Given the description of an element on the screen output the (x, y) to click on. 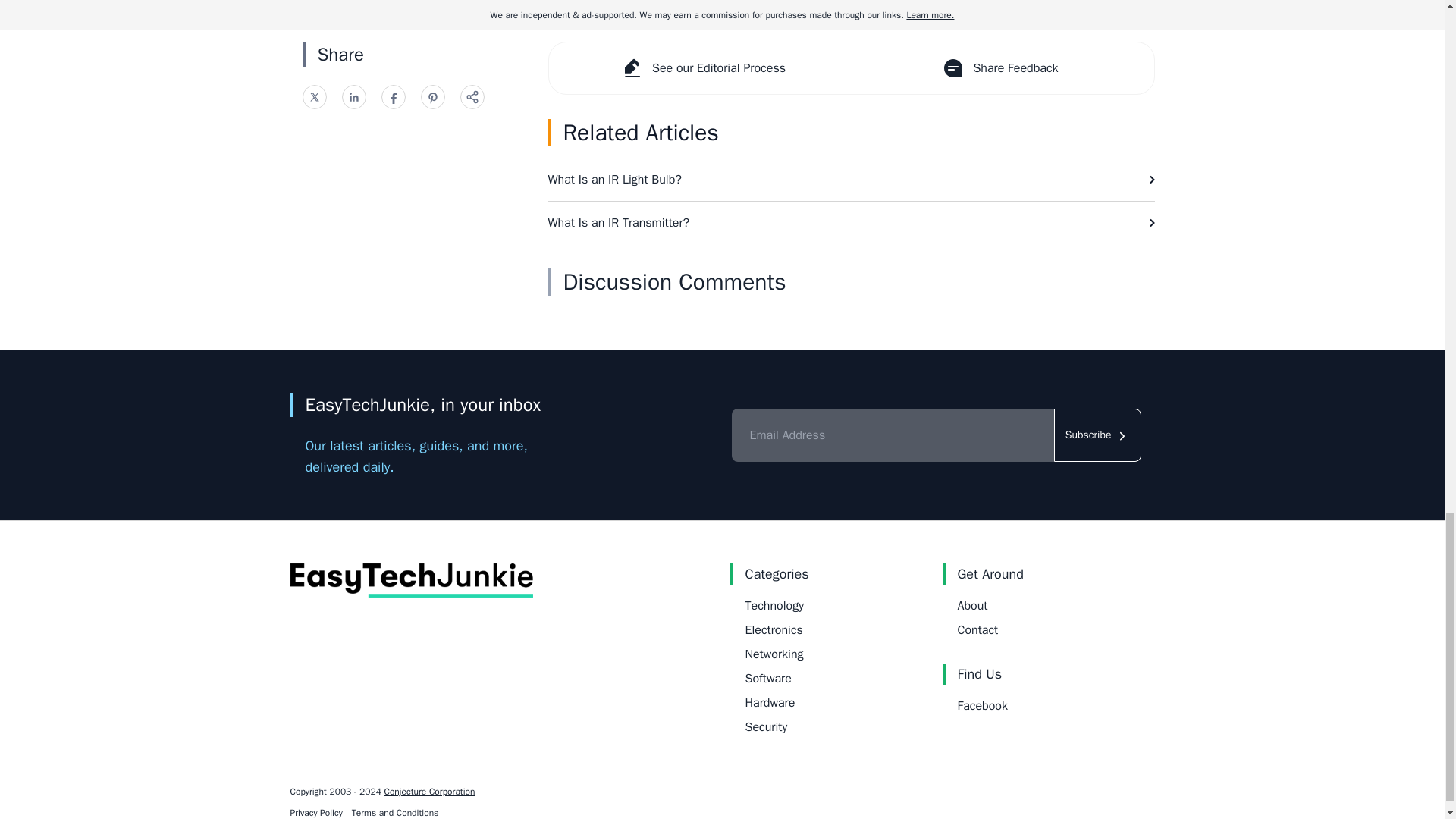
What Is an IR Light Bulb? (850, 179)
See our Editorial Process (699, 68)
Share Feedback (1001, 68)
What Is an IR Transmitter? (850, 222)
